Given the description of an element on the screen output the (x, y) to click on. 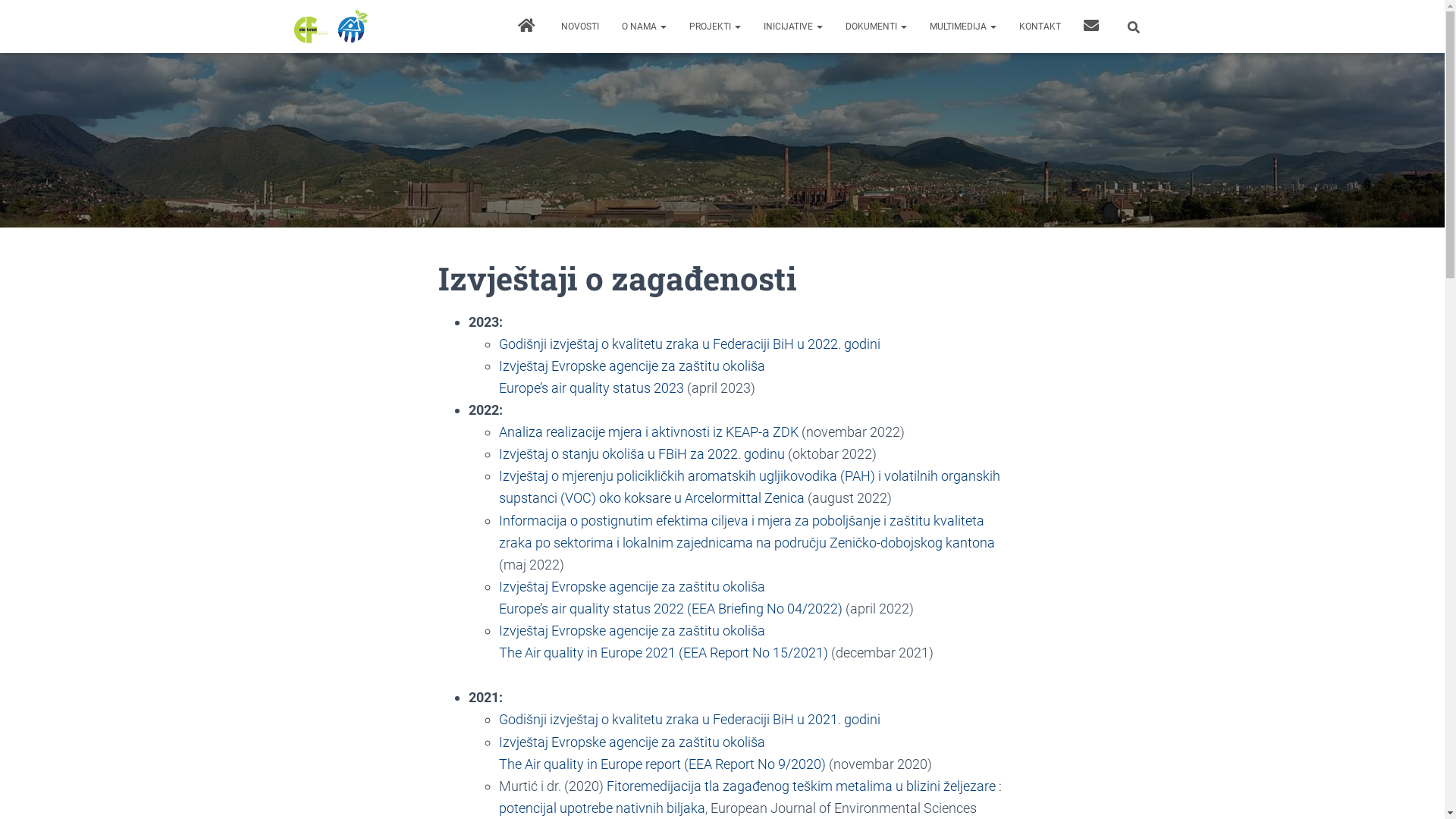
DOKUMENTI Element type: text (876, 26)
KONTAKT Element type: text (1039, 26)
Analiza realizacije mjera i aktivnosti iz KEAP-a ZDK Element type: text (648, 431)
Pretraga Element type: text (3, 16)
NOVOSTI Element type: text (579, 26)
O NAMA Element type: text (643, 26)
PROJEKTI Element type: text (714, 26)
INICIJATIVE Element type: text (793, 26)
Eko Forum Zenica Element type: hover (331, 26)
The Air quality in Europe 2021 (EEA Report No 15/2021) Element type: text (663, 652)
MULTIMEDIJA Element type: text (962, 26)
